Given the description of an element on the screen output the (x, y) to click on. 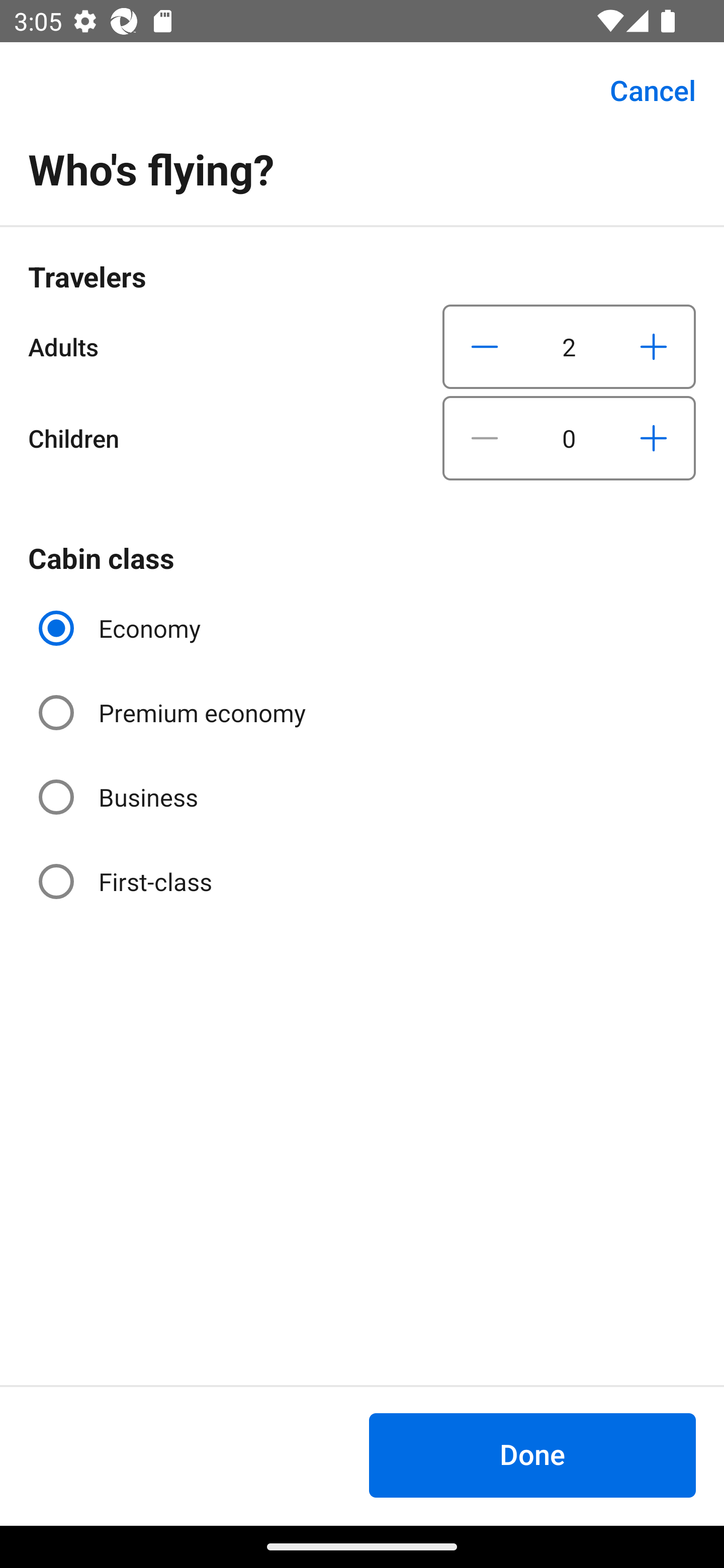
Cancel (641, 90)
Decrease (484, 346)
Increase (653, 346)
Decrease (484, 437)
Increase (653, 437)
Economy (121, 628)
Premium economy (174, 712)
Business (120, 796)
First-class (126, 880)
Done (532, 1454)
